Given the description of an element on the screen output the (x, y) to click on. 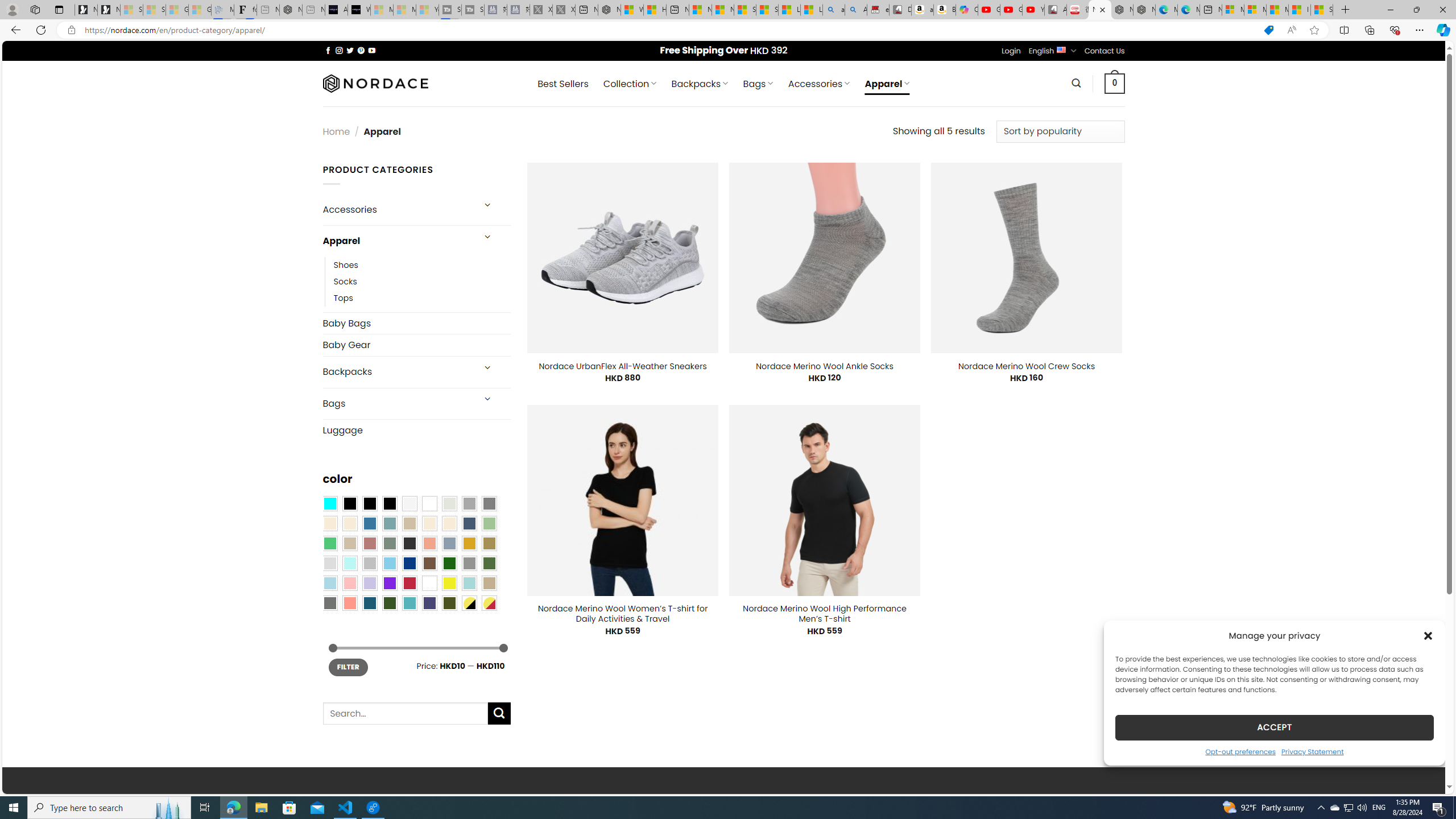
Purple Navy (429, 602)
Mint (349, 562)
Aqua Blue (329, 503)
AI Voice Changer for PC and Mac - Voice.ai (336, 9)
Clear (429, 503)
Capri Blue (369, 602)
